Given the description of an element on the screen output the (x, y) to click on. 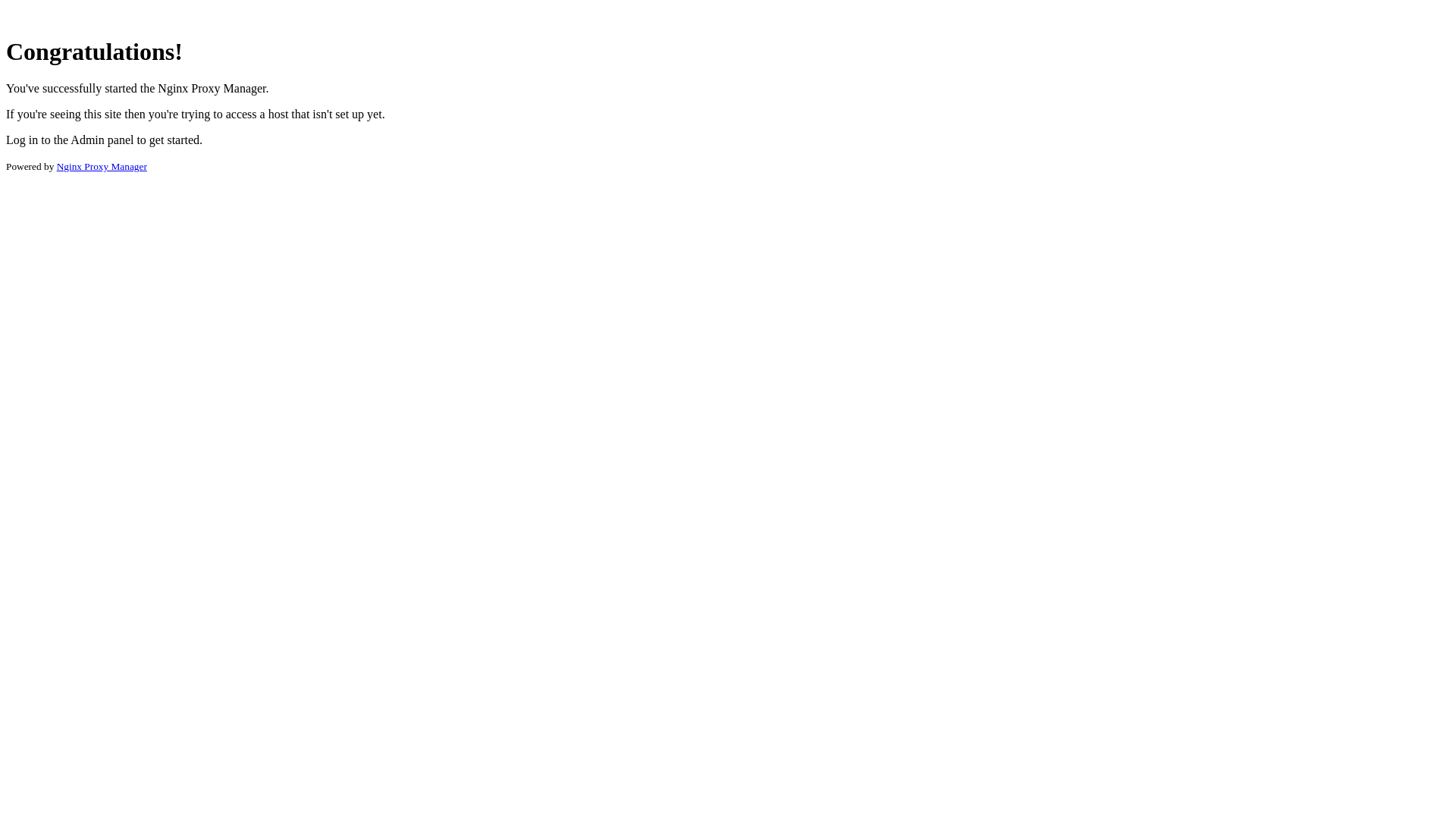
Nginx Proxy Manager Element type: text (101, 166)
